Given the description of an element on the screen output the (x, y) to click on. 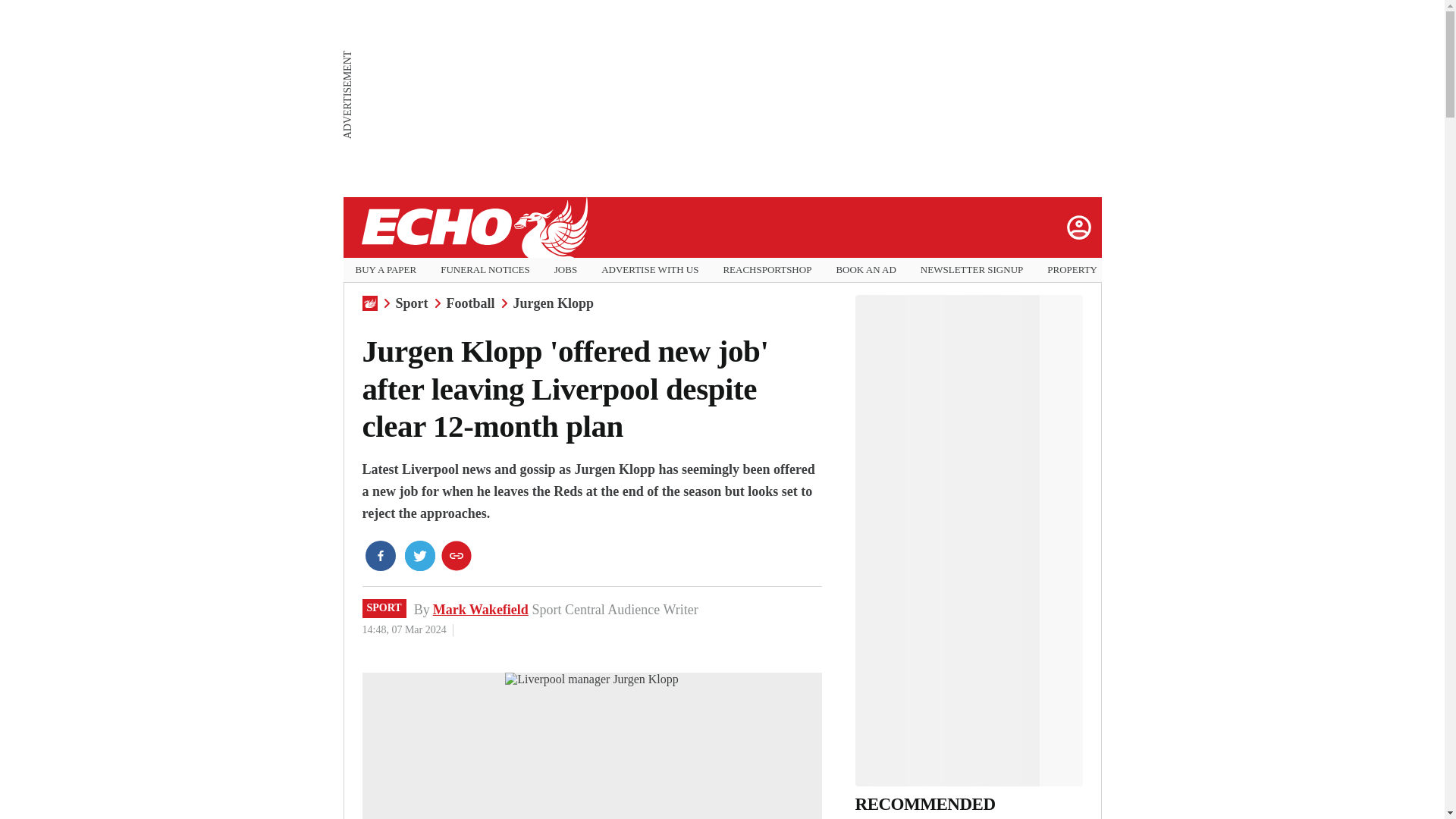
FUNERAL NOTICES (485, 270)
BOOK AN AD (865, 270)
avatar (1077, 227)
REACHSPORTSHOP (766, 270)
NEWSLETTER SIGNUP (971, 270)
Sport (412, 303)
BUY A PAPER (385, 270)
Jurgen Klopp (553, 303)
SPORT (384, 607)
Go to the Liverpool Echo homepage (473, 227)
PROPERTY (1071, 270)
Mark Wakefield (480, 609)
copy link (456, 555)
ADVERTISE WITH US (649, 270)
Football (470, 303)
